Given the description of an element on the screen output the (x, y) to click on. 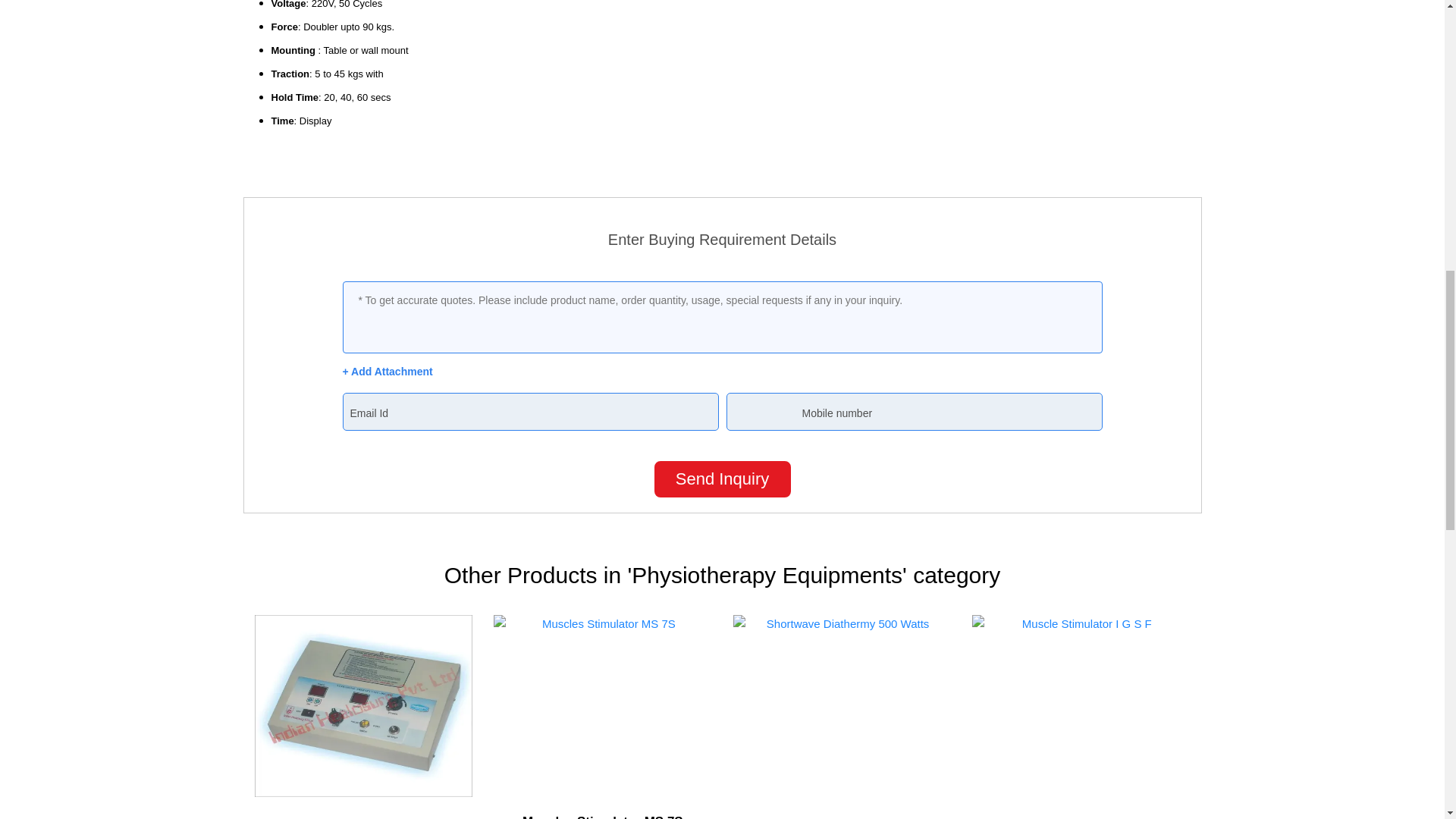
Muscles Stimulator MS 7S (602, 816)
Send Inquiry (721, 479)
